Given the description of an element on the screen output the (x, y) to click on. 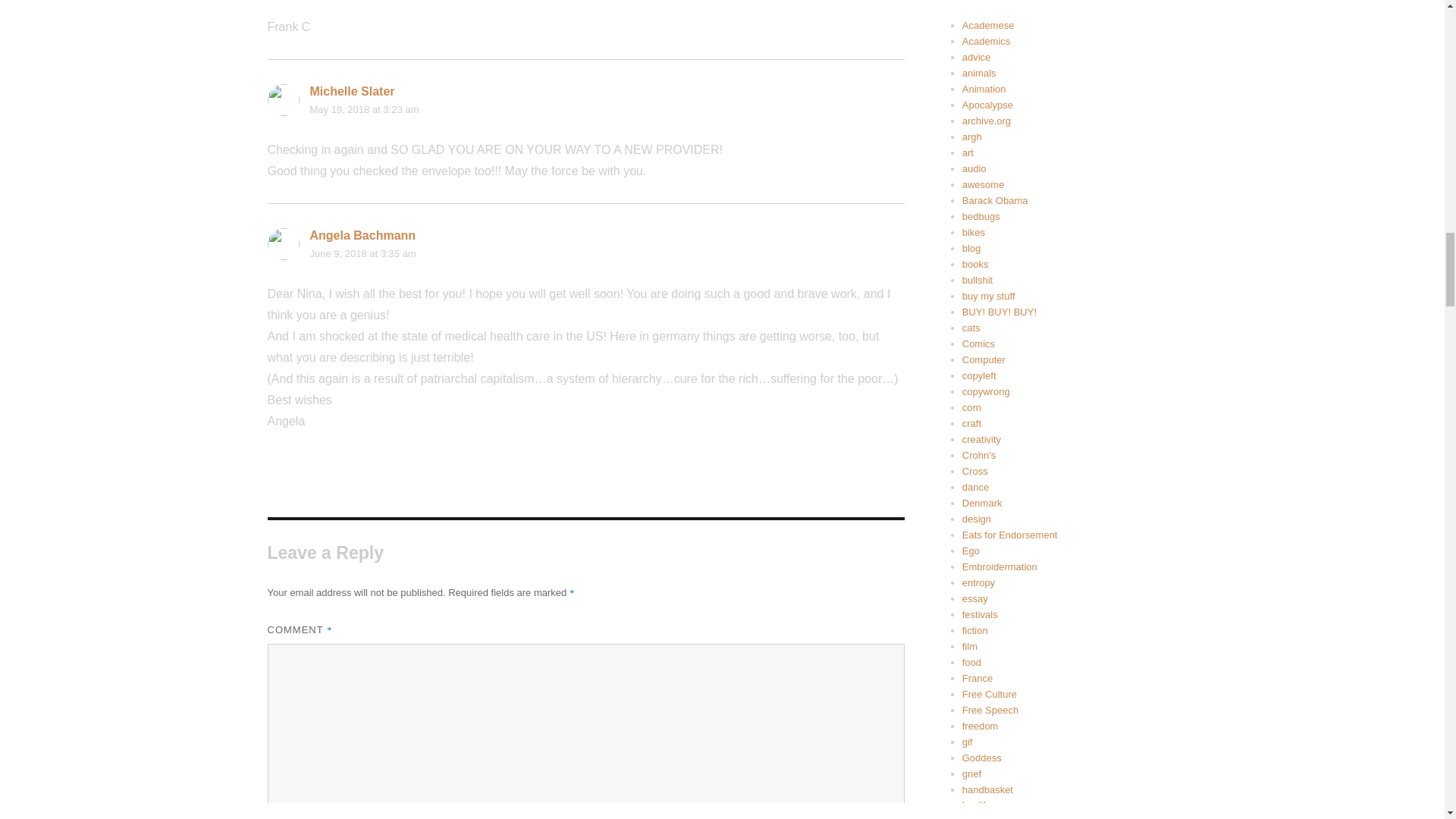
June 9, 2018 at 3:35 am (361, 253)
May 19, 2018 at 3:23 am (363, 109)
Michelle Slater (351, 91)
